Given the description of an element on the screen output the (x, y) to click on. 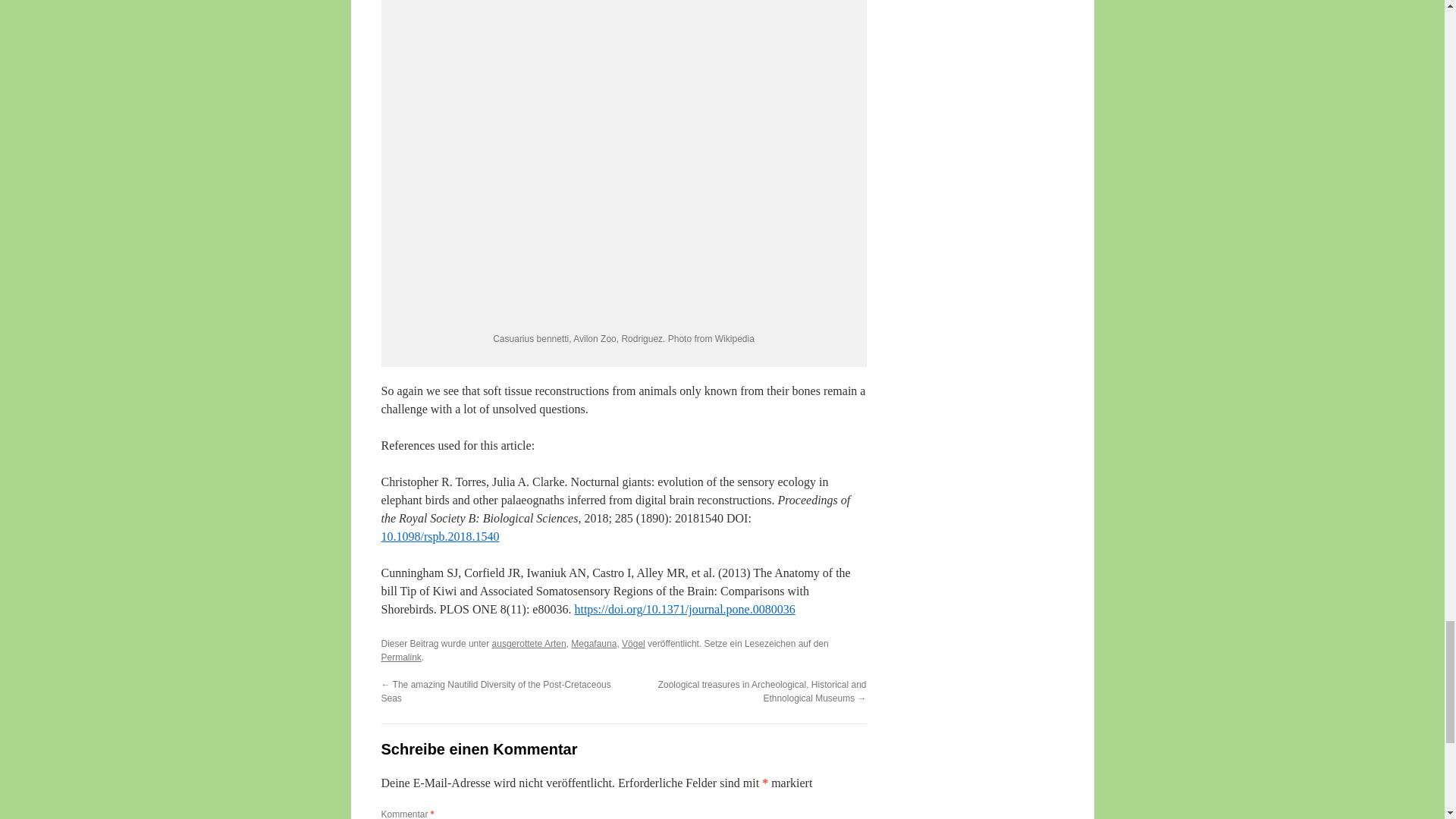
Megafauna (592, 643)
Permalink (400, 656)
ausgerottete Arten (529, 643)
